Given the description of an element on the screen output the (x, y) to click on. 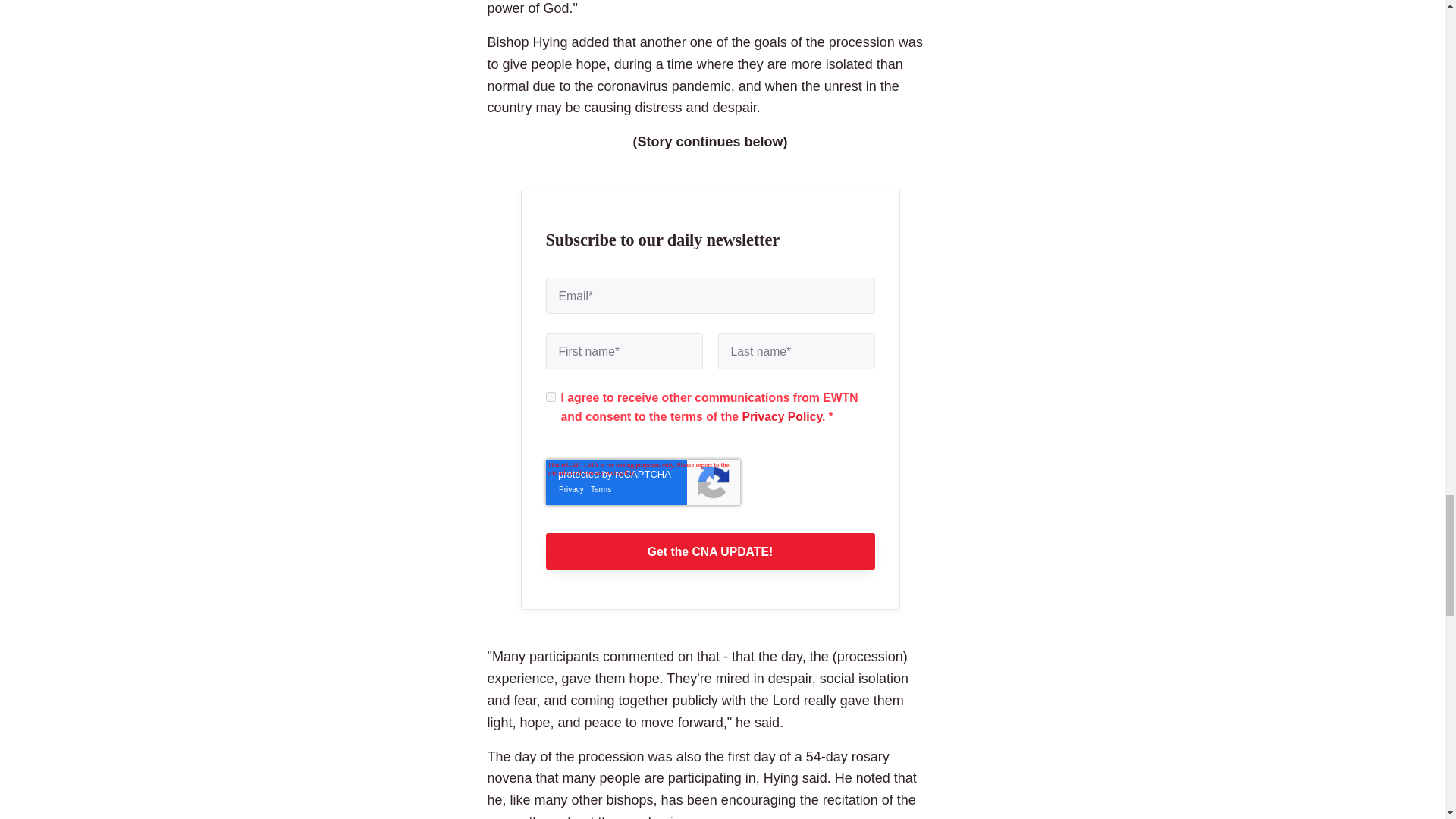
true (551, 397)
Get the CNA UPDATE! (710, 551)
reCAPTCHA (642, 482)
